Given the description of an element on the screen output the (x, y) to click on. 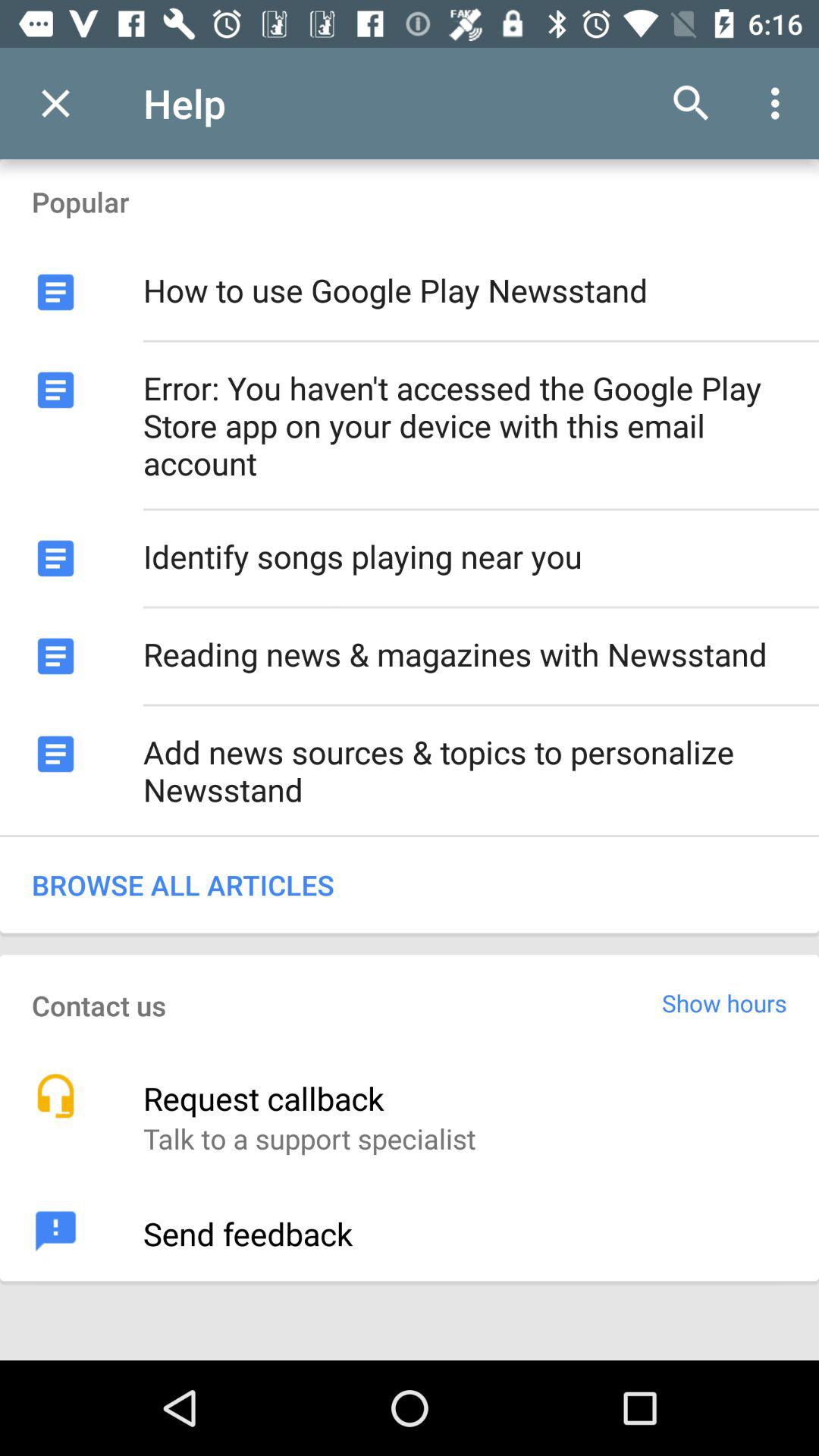
tap the show hours (724, 1002)
